Given the description of an element on the screen output the (x, y) to click on. 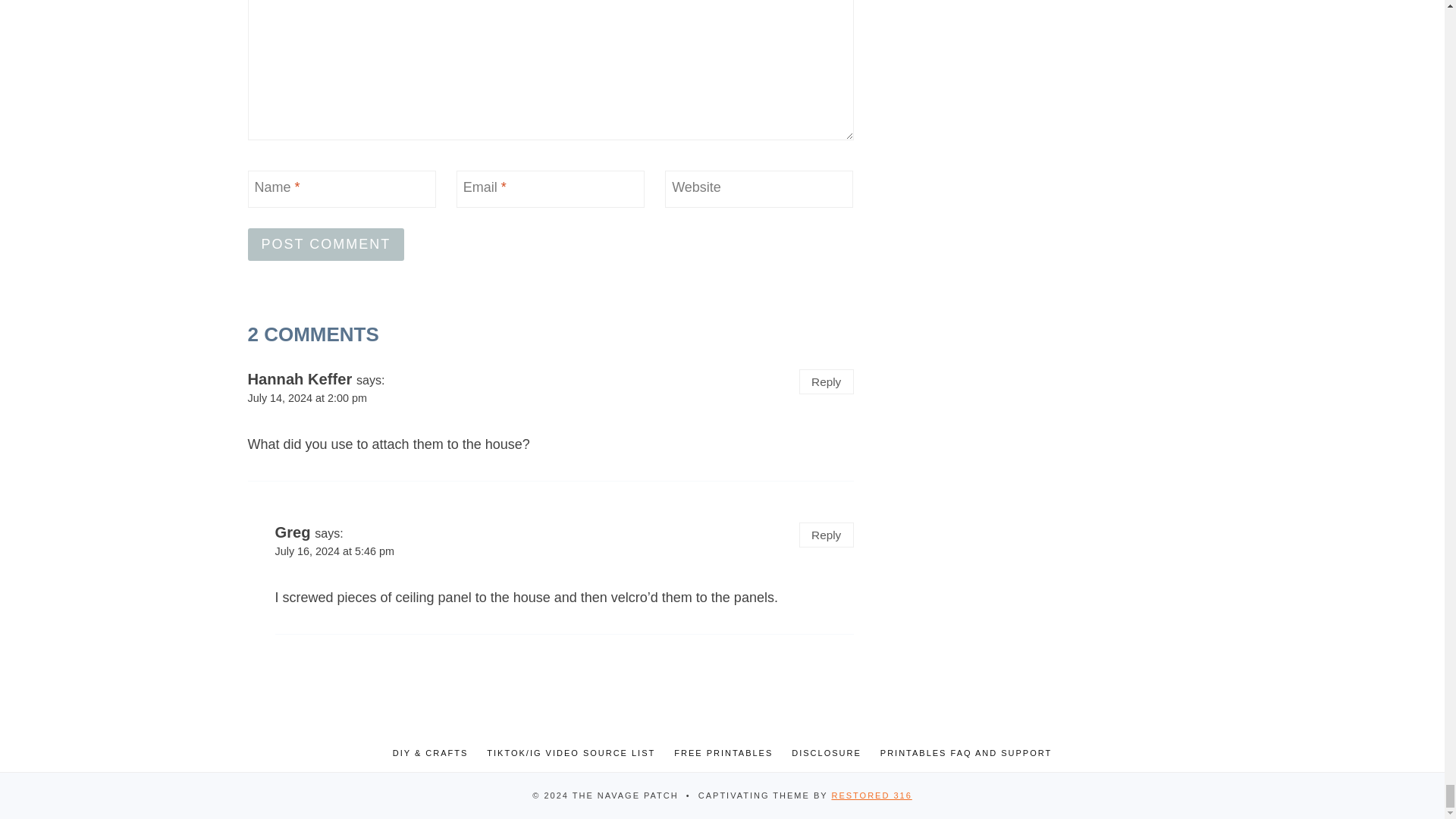
Post Comment (325, 244)
